Given the description of an element on the screen output the (x, y) to click on. 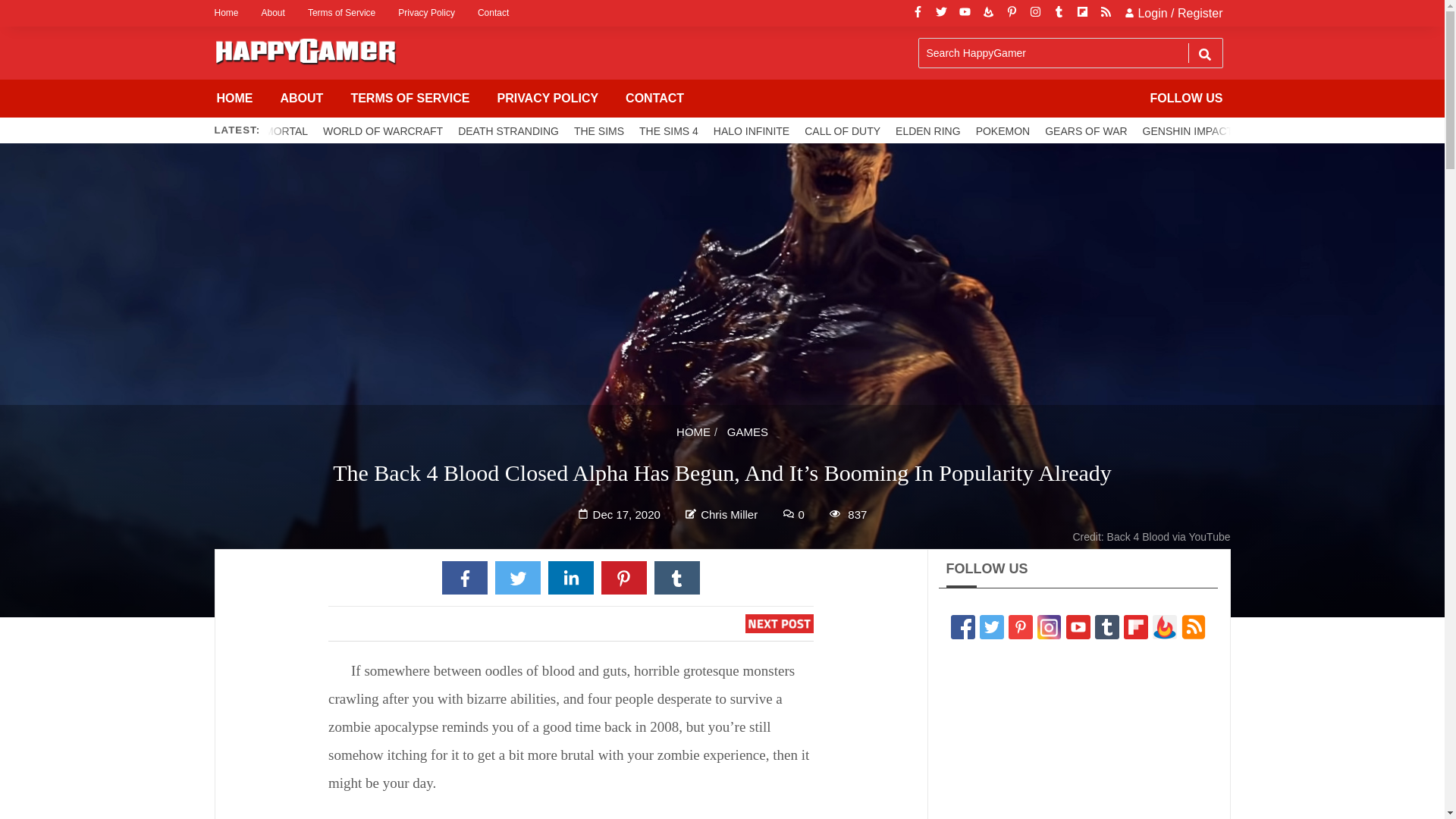
CONTACT (654, 98)
Contact (492, 13)
Home (231, 13)
CALL OF DUTY (842, 130)
WORLD OF WARCRAFT (382, 130)
HALO INFINITE (751, 130)
FOLLOW US (1186, 98)
DEATH STRANDING (507, 130)
THE SIMS (598, 130)
HOME (234, 98)
Home (231, 13)
Privacy Policy (426, 13)
TERMS OF SERVICE (409, 98)
ABOUT (301, 98)
PRIVACY POLICY (547, 98)
